Given the description of an element on the screen output the (x, y) to click on. 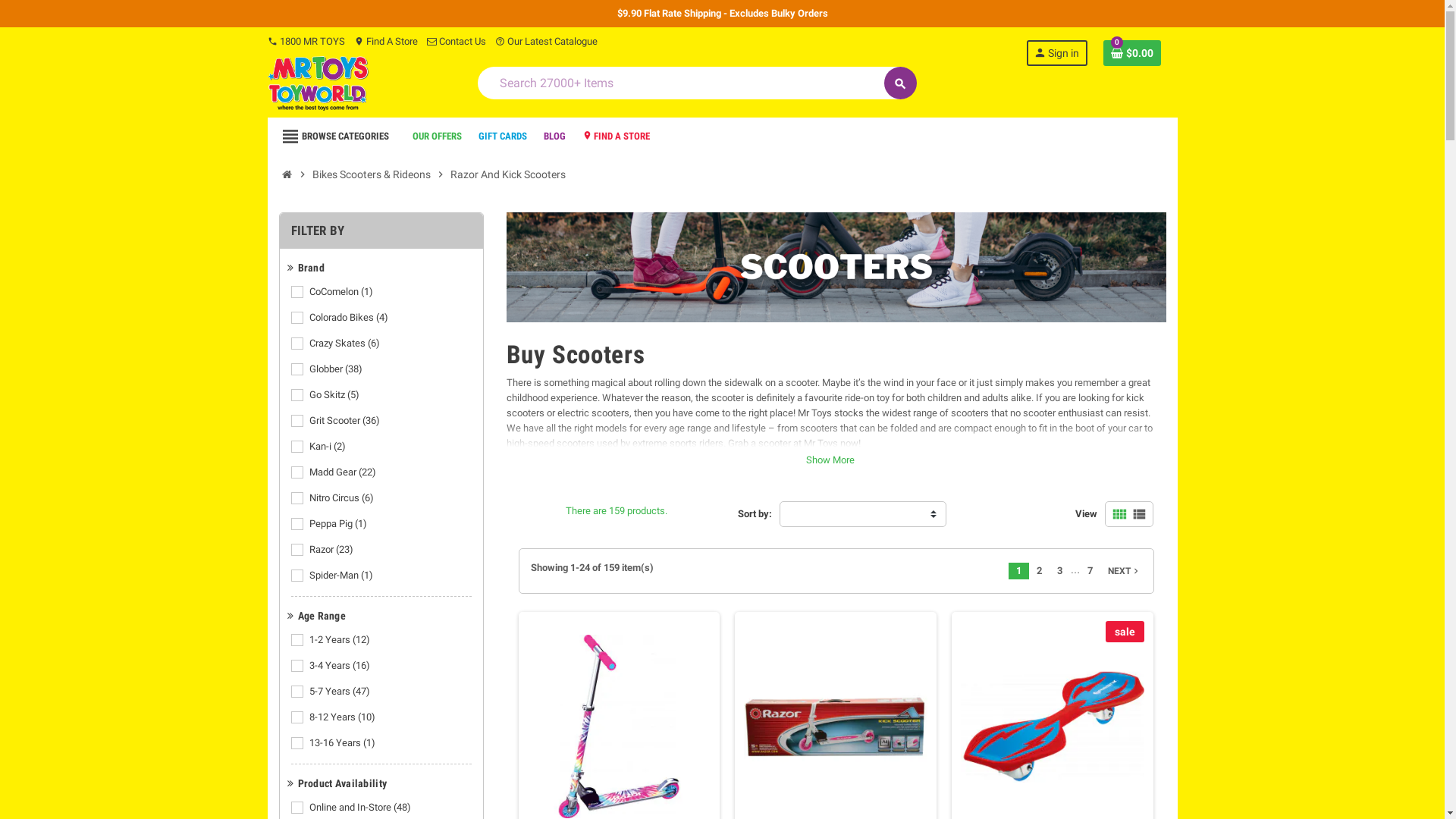
OUR OFFERS Element type: text (436, 136)
view_list Element type: text (1138, 513)
GIFT CARDS Element type: text (501, 136)
3 Element type: text (1059, 570)
1-2 Years
(12) Element type: text (340, 639)
Contact Us Element type: text (455, 41)
Spider-Man
(1) Element type: text (342, 575)
place FIND A STORE Element type: text (616, 136)
Grit Scooter
(36) Element type: text (345, 420)
search Element type: text (900, 82)
person
Sign in Element type: text (1056, 52)
location_on Find A Store Element type: text (385, 41)
Nitro Circus
(6) Element type: text (342, 497)
Madd Gear
(22) Element type: text (343, 472)
8-12 Years
(10) Element type: text (343, 716)
Go Skitz
(5) Element type: text (335, 394)
0
$0.00 Element type: text (1132, 52)
7 Element type: text (1089, 570)
13-16 Years
(1) Element type: text (343, 742)
Razor
(23) Element type: text (332, 549)
Crazy Skates
(6) Element type: text (345, 343)
phone 1800 MR TOYS Element type: text (305, 41)
Razor And Kick Scooters Element type: text (506, 174)
2 Element type: text (1039, 570)
Mr Toys Toyworld Element type: hover (317, 81)
Razor A Kick Scooter Pink Element type: hover (835, 726)
5-7 Years
(47) Element type: text (340, 691)
Kan-i
(2) Element type: text (328, 446)
BLOG Element type: text (553, 136)
Ripstik Ripster Brights - Red/Blue Element type: hover (1052, 726)
view_comfy Element type: text (1118, 513)
help_outline Our Latest Catalogue Element type: text (545, 41)
Online and In-Store
(48) Element type: text (361, 807)
CoComelon
(1) Element type: text (342, 291)
Globber
(38) Element type: text (336, 368)
Show More Element type: text (830, 444)
Razor A Special Edition - Tie Dye Element type: hover (619, 726)
NEXTnavigate_next Element type: text (1120, 570)
Peppa Pig
(1) Element type: text (339, 523)
Colorado Bikes
(4) Element type: text (349, 317)
Bikes Scooters & Rideons Element type: text (370, 174)
3-4 Years
(16) Element type: text (340, 665)
1 Element type: text (1018, 570)
